Given the description of an element on the screen output the (x, y) to click on. 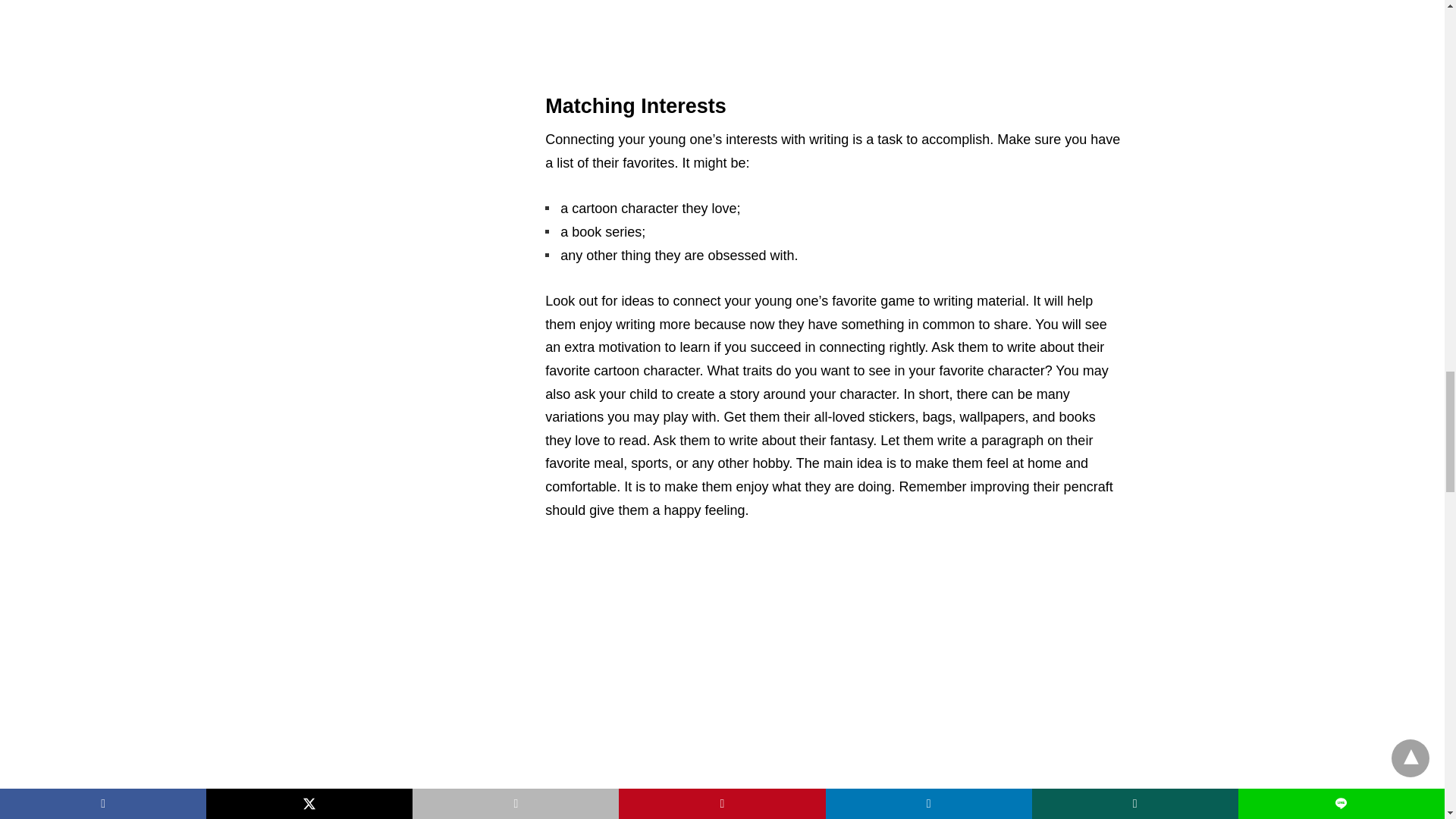
3rd party ad content (834, 41)
